Given the description of an element on the screen output the (x, y) to click on. 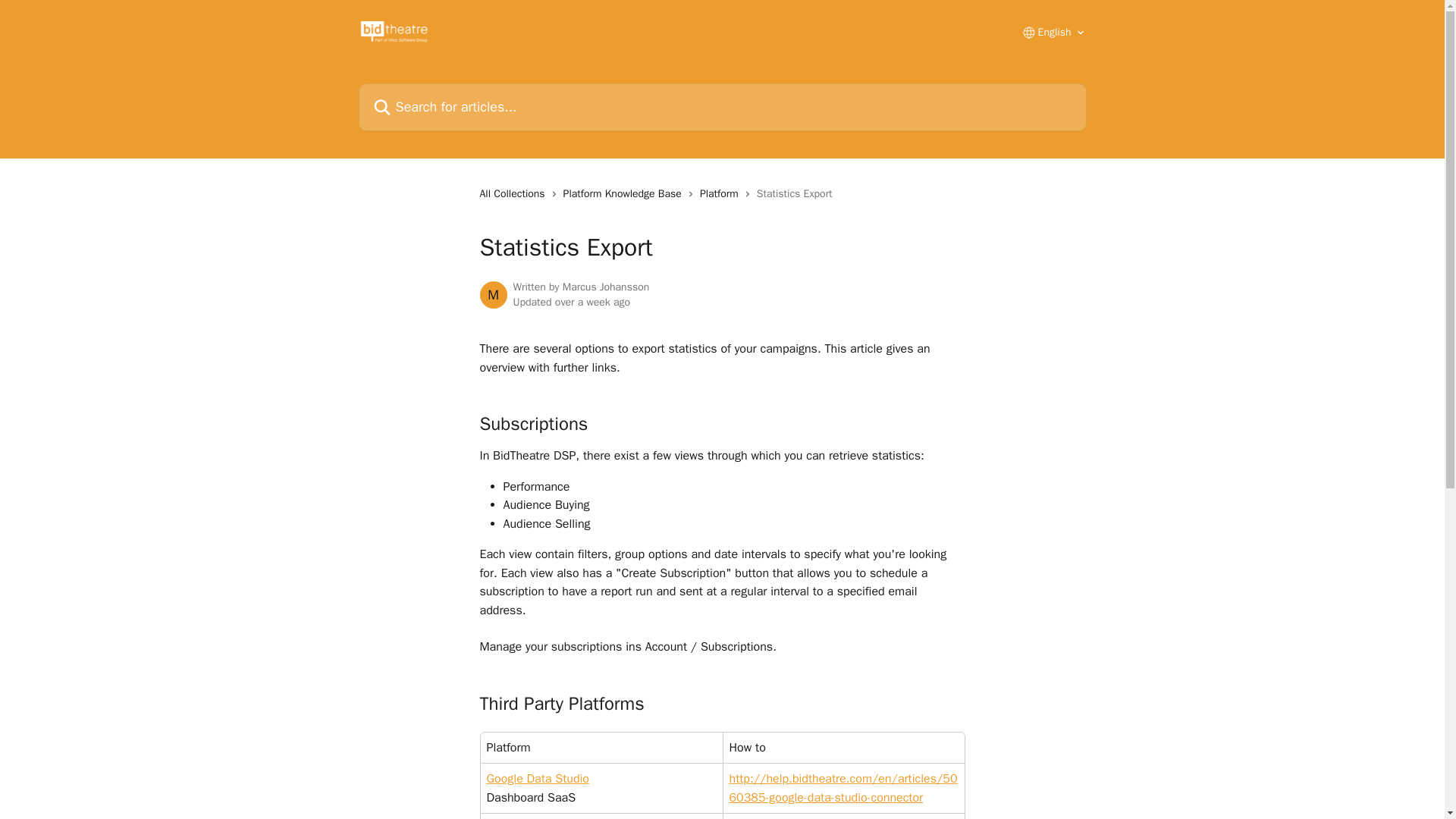
Platform Knowledge Base (625, 193)
Google Data Studio (537, 778)
All Collections (514, 193)
Platform (722, 193)
